Given the description of an element on the screen output the (x, y) to click on. 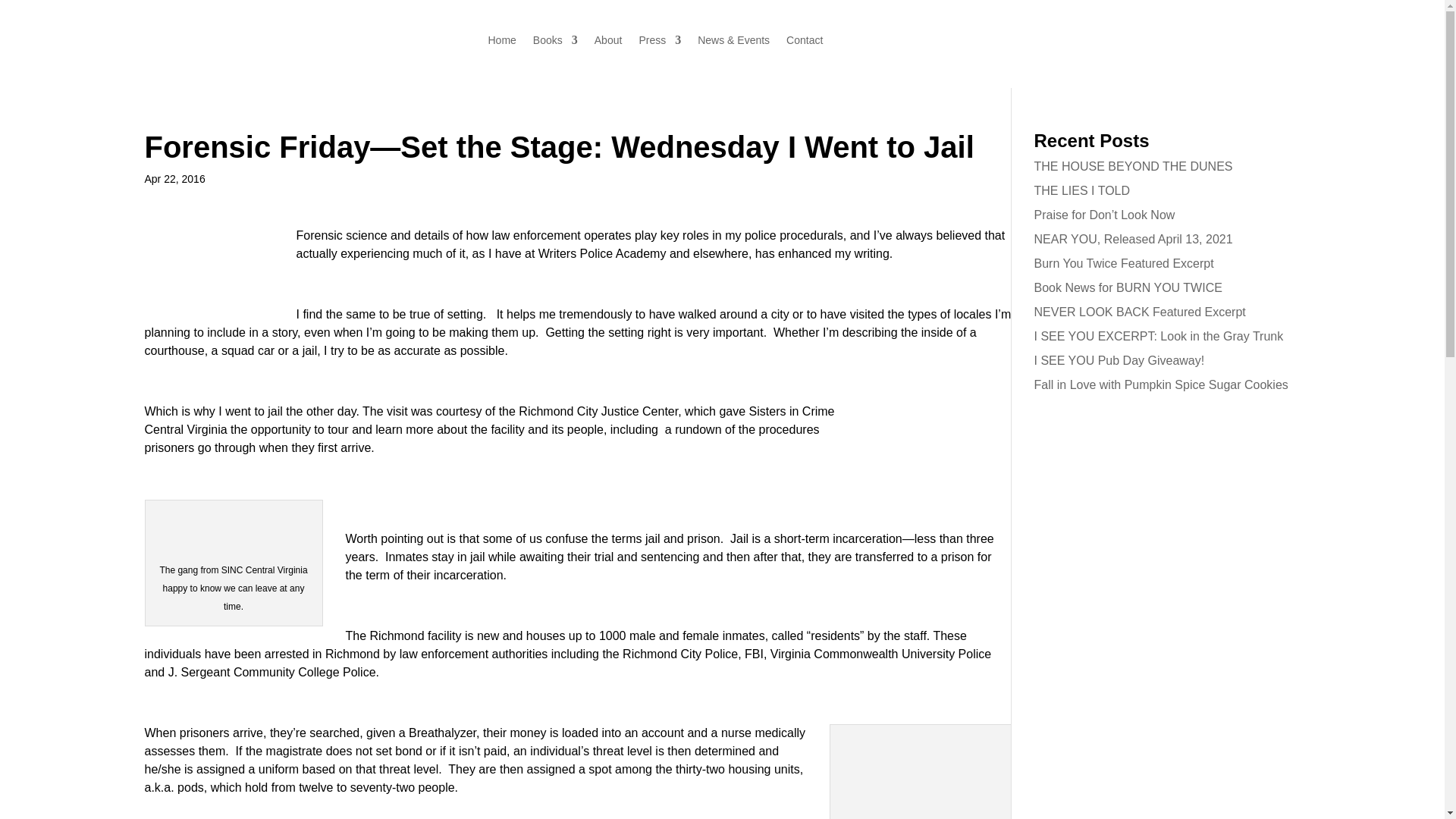
Book News for BURN YOU TWICE (1128, 287)
I SEE YOU Pub Day Giveaway! (1119, 359)
THE LIES I TOLD (1082, 190)
Press (660, 43)
I SEE YOU EXCERPT: Look in the Gray Trunk (1158, 336)
Fall in Love with Pumpkin Spice Sugar Cookies (1160, 384)
NEAR YOU, Released April 13, 2021 (1133, 238)
Books (555, 43)
Follow on Facebook (445, 40)
About (608, 43)
Burn You Twice Featured Excerpt (1123, 263)
Follow on Instagram (475, 40)
Home (501, 43)
NEVER LOOK BACK Featured Excerpt (1139, 311)
Contact (804, 43)
